Given the description of an element on the screen output the (x, y) to click on. 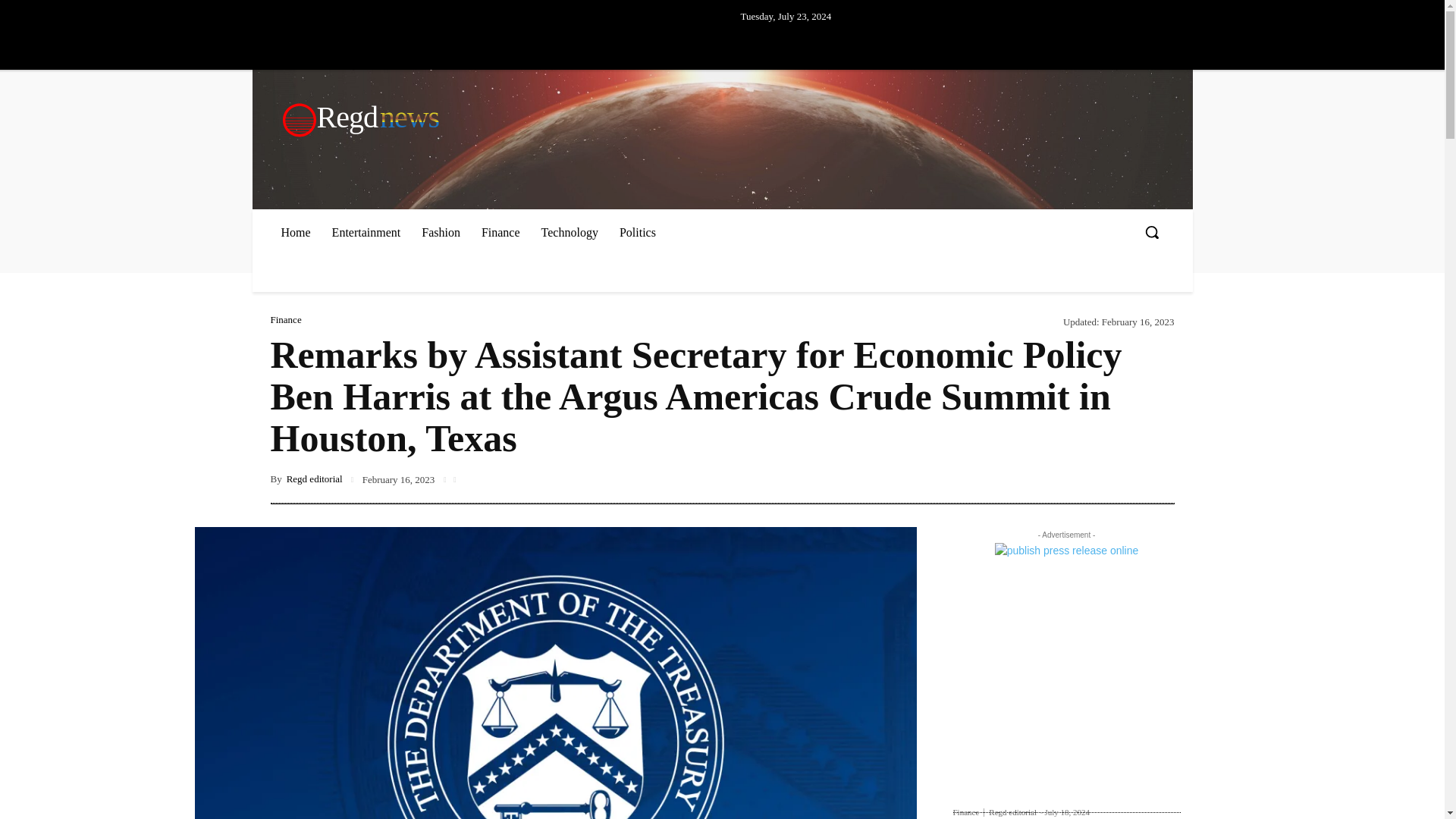
Home (294, 232)
Regd editorial (314, 479)
Technology (569, 232)
Finance (500, 232)
Entertainment (722, 117)
Finance (366, 232)
Regd editorial (968, 812)
Fashion (1012, 811)
Finance (440, 232)
Politics (285, 319)
